Given the description of an element on the screen output the (x, y) to click on. 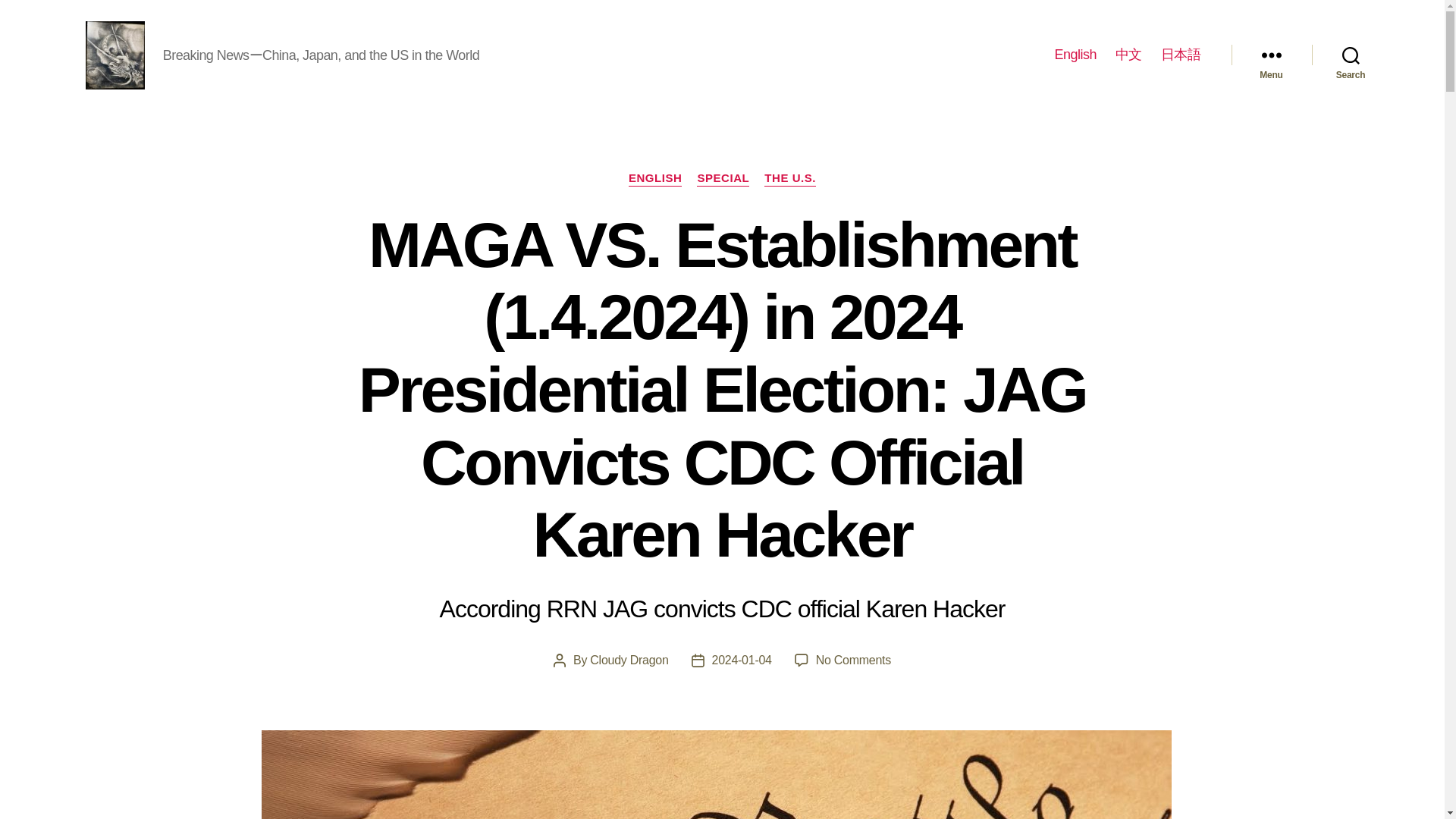
THE U.S. (789, 178)
Menu (1271, 55)
Search (1350, 55)
Cloudy Dragon (628, 659)
SPECIAL (723, 178)
English (1075, 54)
2024-01-04 (741, 659)
ENGLISH (655, 178)
